Given the description of an element on the screen output the (x, y) to click on. 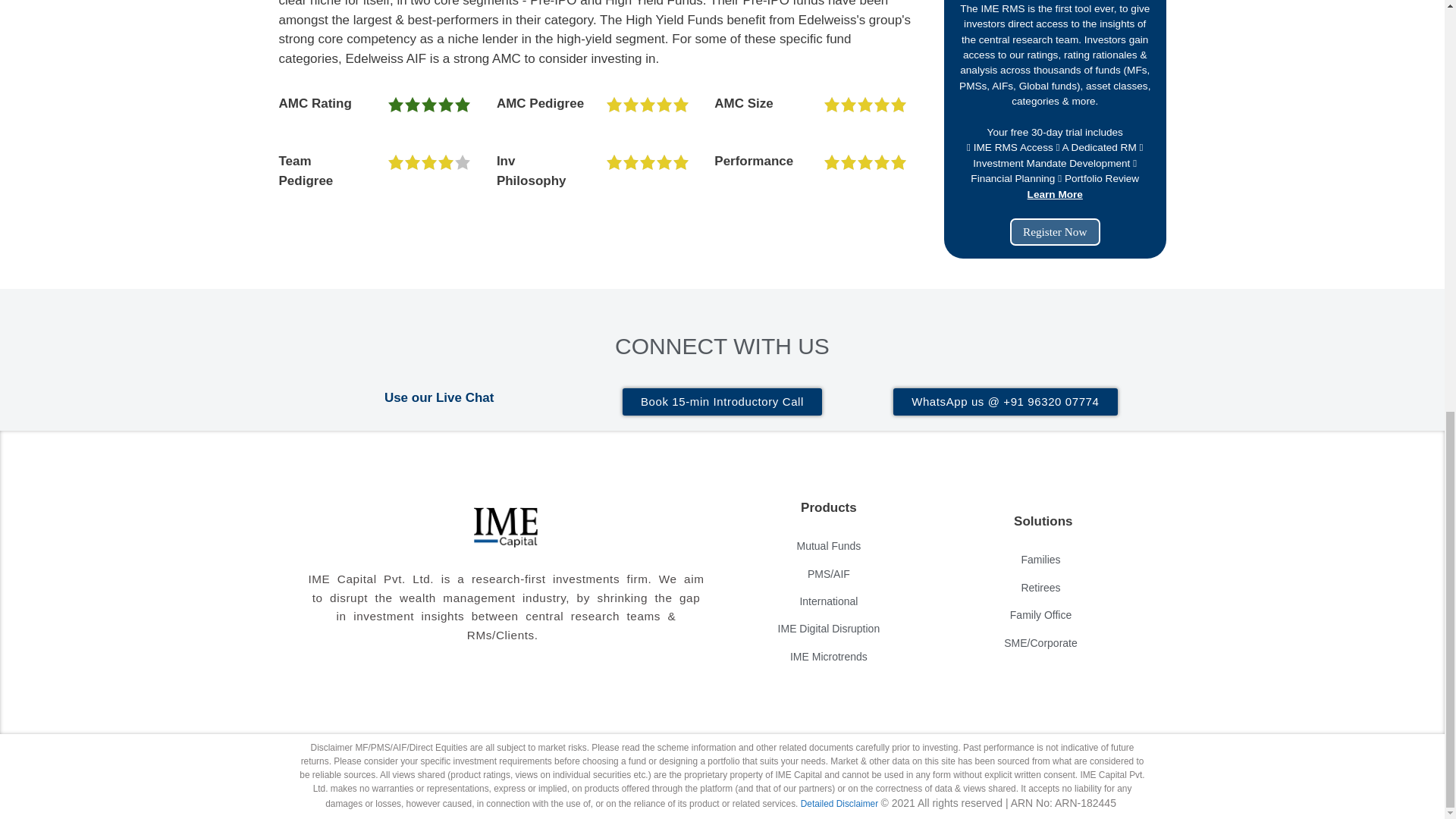
Mutual Funds (828, 545)
Book 15-min Introductory Call (722, 401)
